Given the description of an element on the screen output the (x, y) to click on. 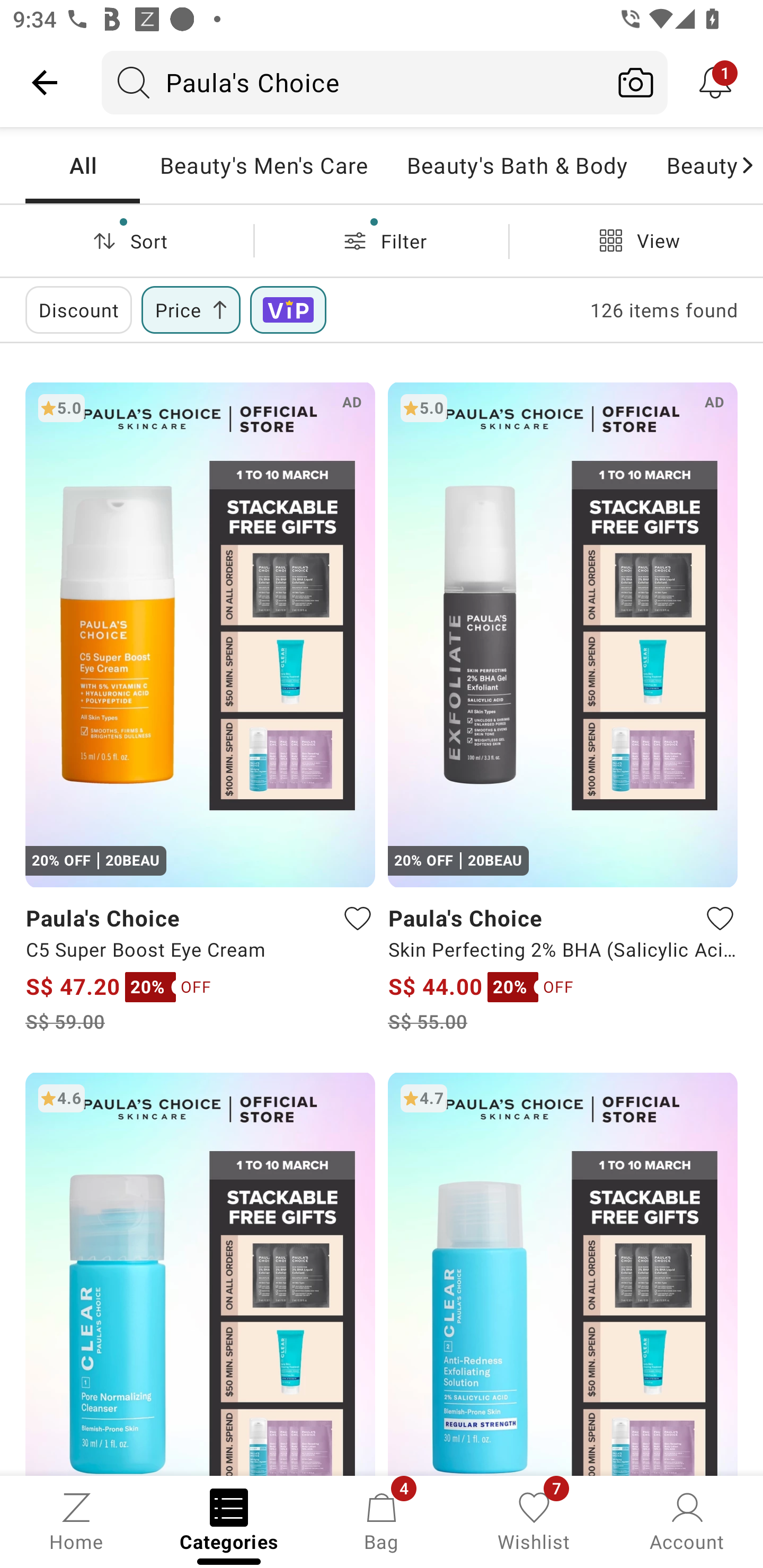
Navigate up (44, 82)
Paula's Choice (352, 82)
Beauty's Men's Care (262, 165)
Beauty's Bath & Body (516, 165)
Beauty's Hair Care (691, 165)
Sort (126, 240)
Filter (381, 240)
View (636, 240)
Discount (78, 309)
Price (190, 309)
4.6 (200, 1272)
4.7 (562, 1272)
Home (76, 1519)
Bag, 4 new notifications Bag (381, 1519)
Wishlist, 7 new notifications Wishlist (533, 1519)
Account (686, 1519)
